Given the description of an element on the screen output the (x, y) to click on. 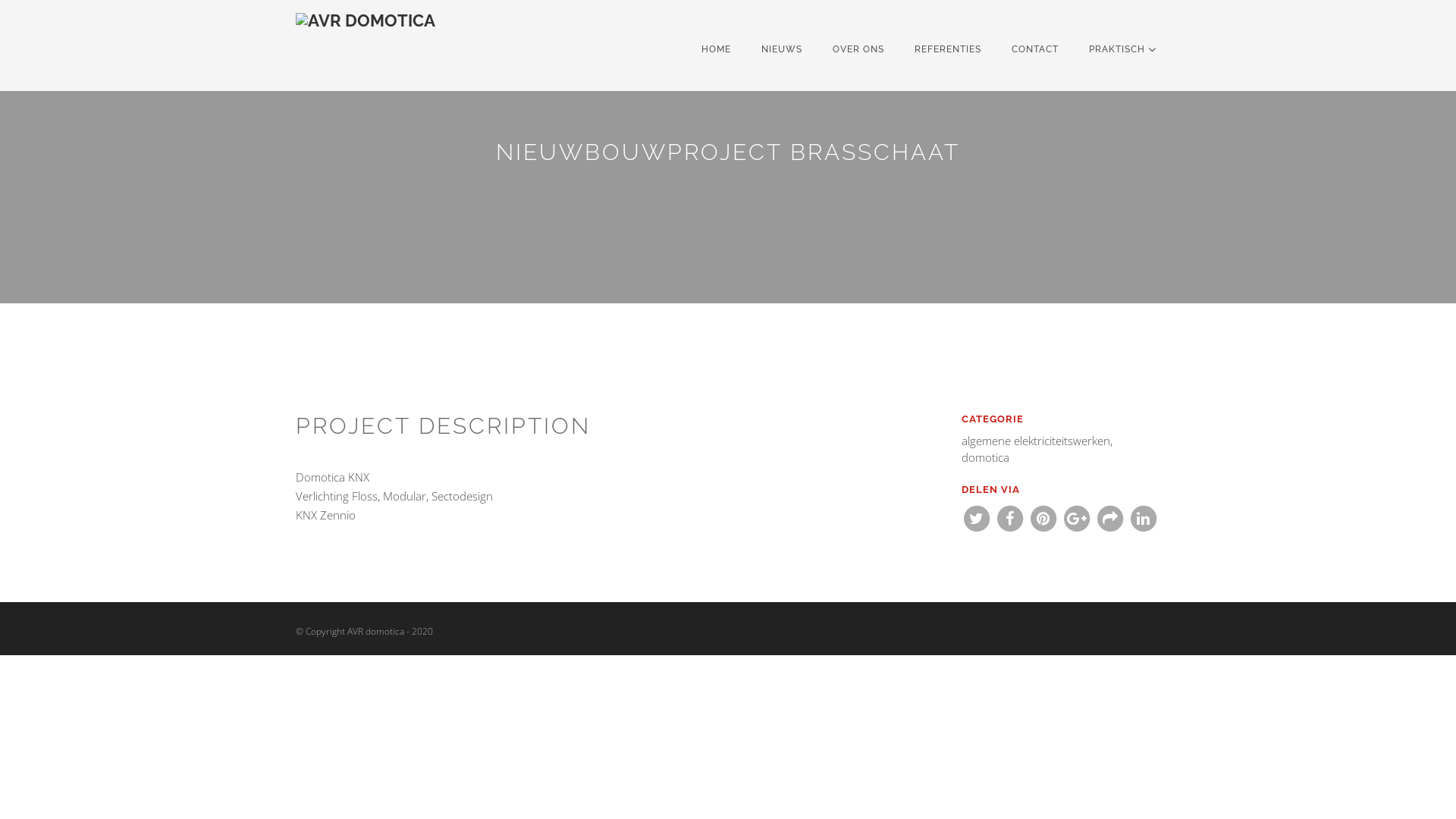
PRAKTISCH Element type: text (1122, 48)
HOME Element type: text (716, 48)
NIEUWS Element type: text (781, 48)
AVR Domotica Element type: hover (369, 45)
REFERENTIES Element type: text (947, 48)
CONTACT Element type: text (1034, 48)
OVER ONS Element type: text (858, 48)
